Given the description of an element on the screen output the (x, y) to click on. 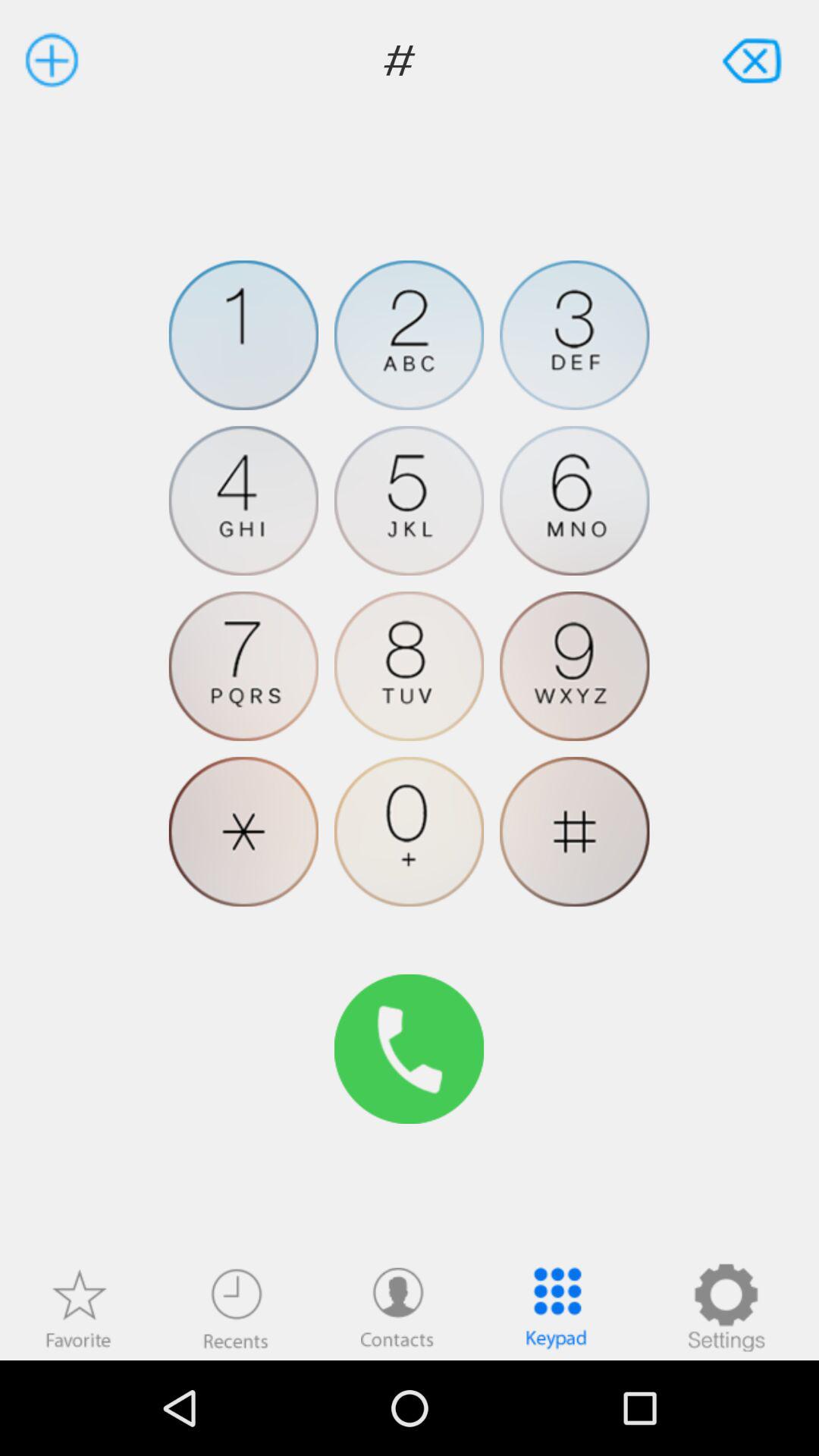
tap item to the right of the # app (754, 59)
